Given the description of an element on the screen output the (x, y) to click on. 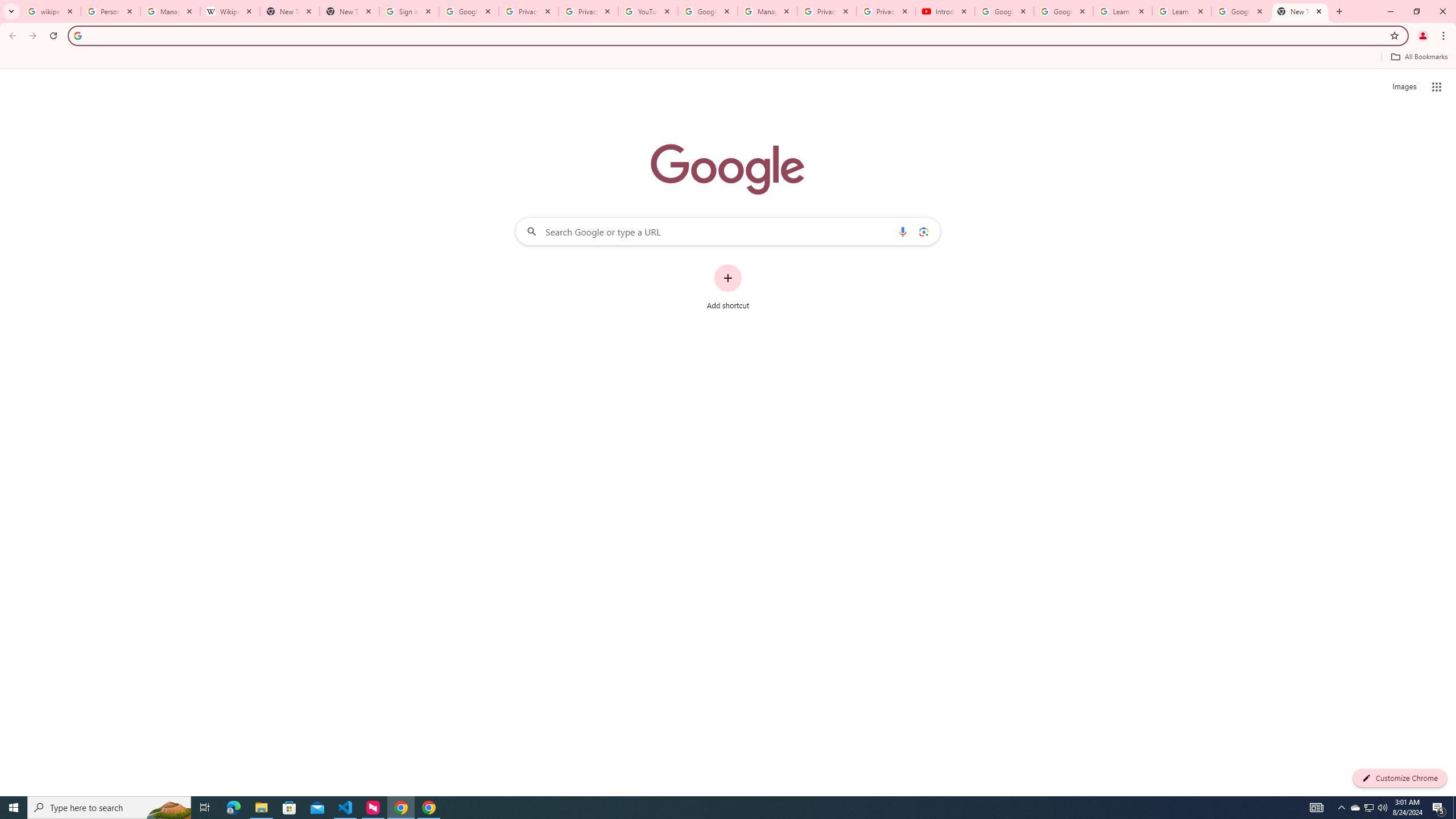
Google Drive: Sign-in (468, 11)
